Given the description of an element on the screen output the (x, y) to click on. 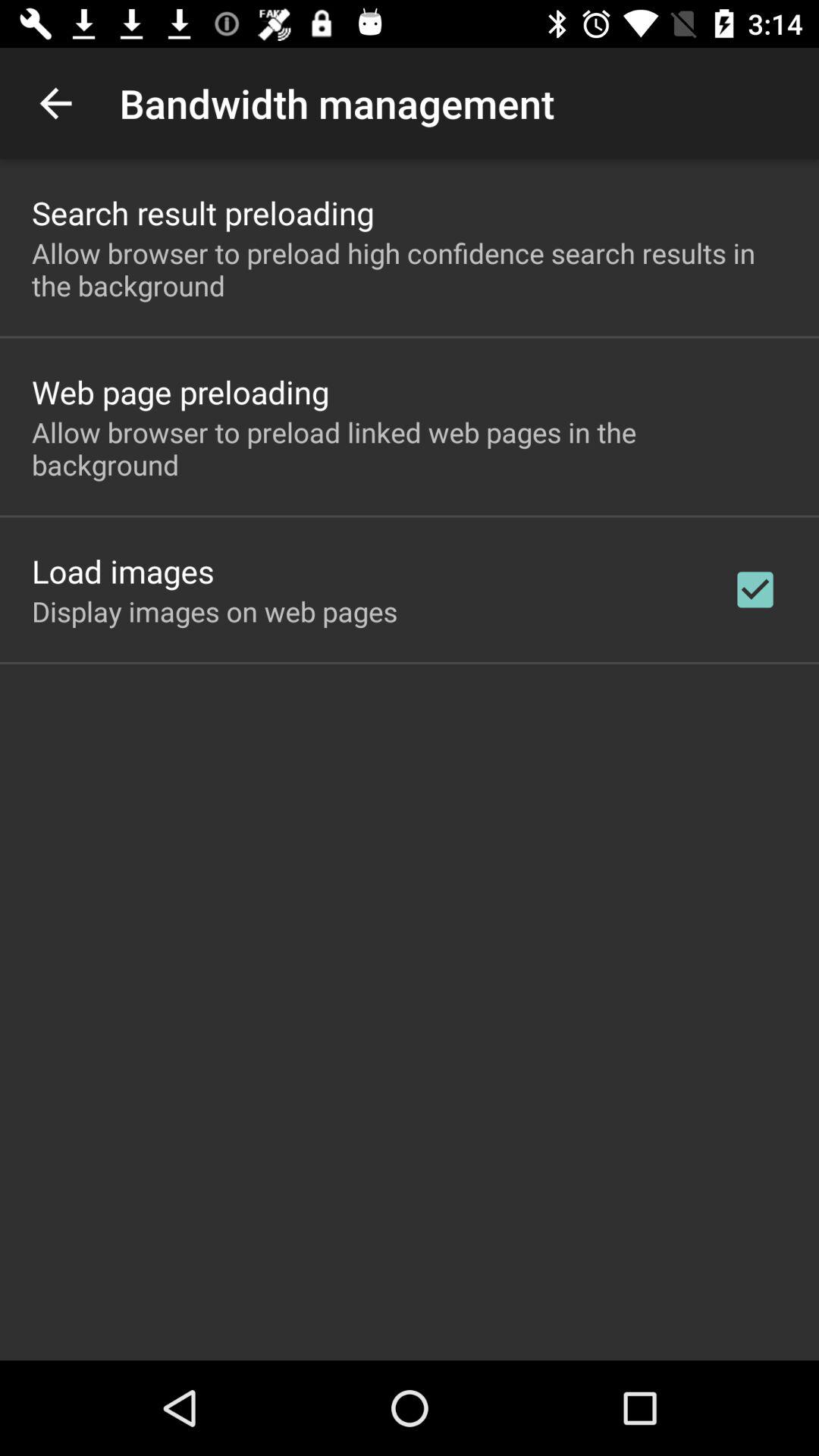
select the item below the allow browser to (755, 589)
